Given the description of an element on the screen output the (x, y) to click on. 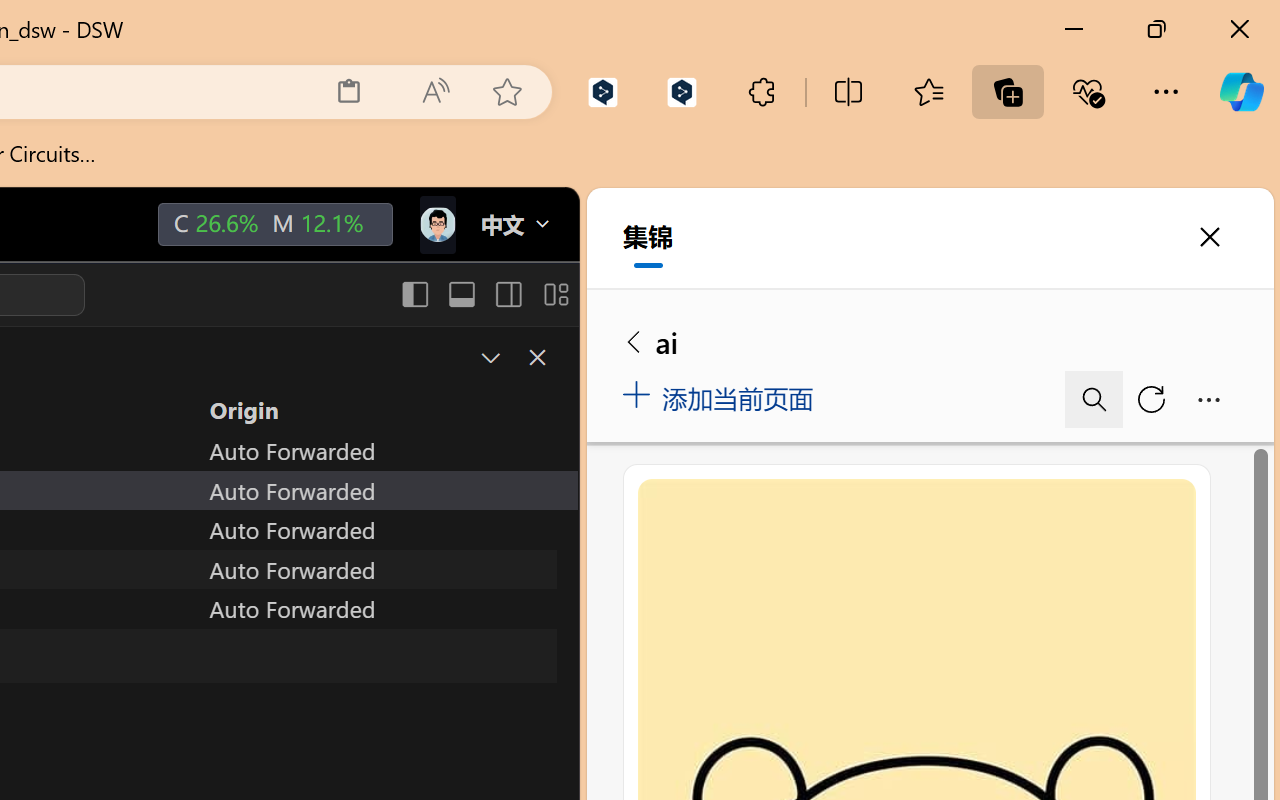
Customize Layout... (553, 294)
Toggle Primary Side Bar (Ctrl+B) (413, 294)
Class: actions-container (516, 358)
Restore Panel Size (488, 357)
Copilot (Ctrl+Shift+.) (1241, 91)
Title actions (484, 294)
icon (436, 224)
